Given the description of an element on the screen output the (x, y) to click on. 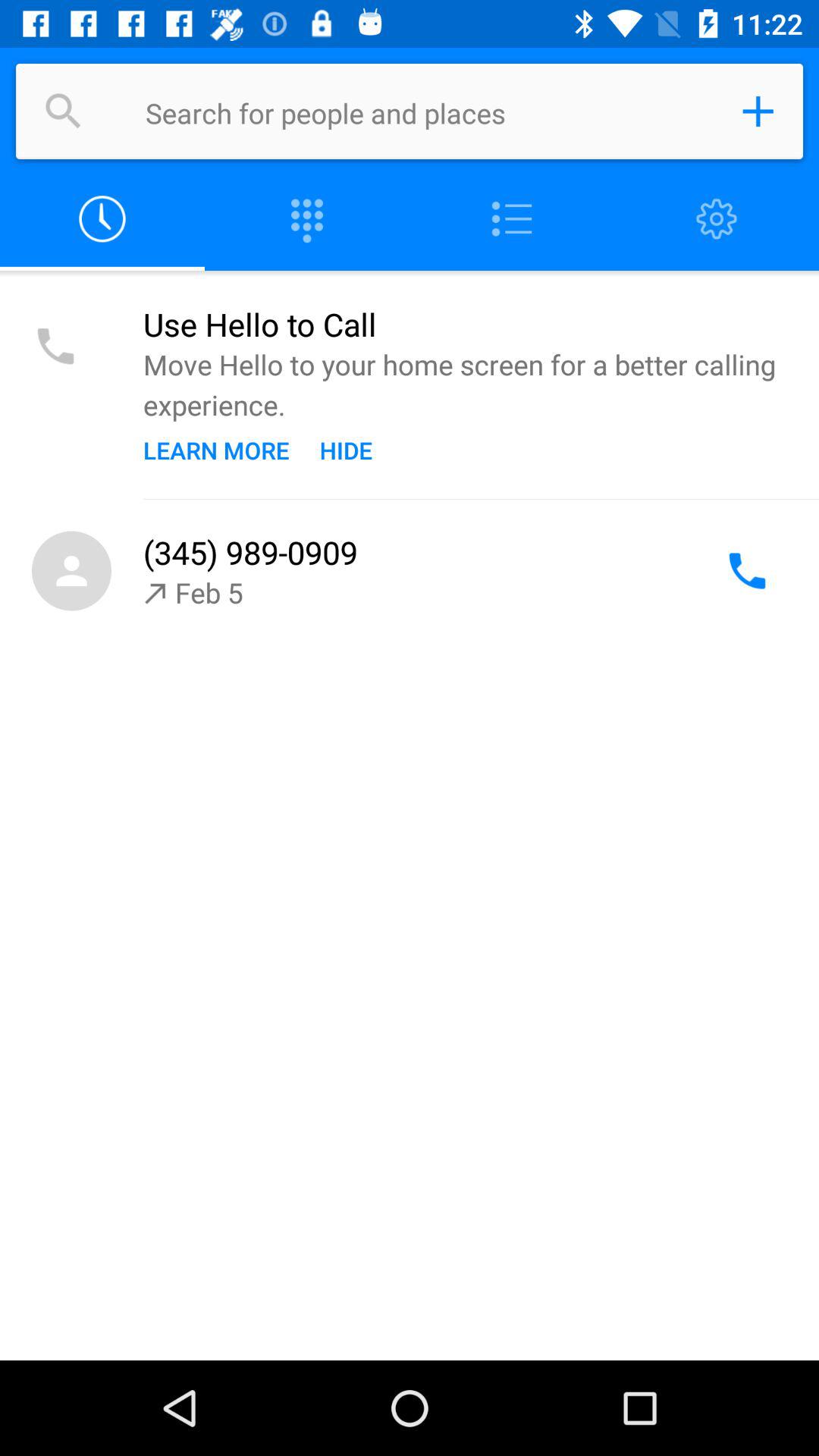
settings (716, 219)
